Given the description of an element on the screen output the (x, y) to click on. 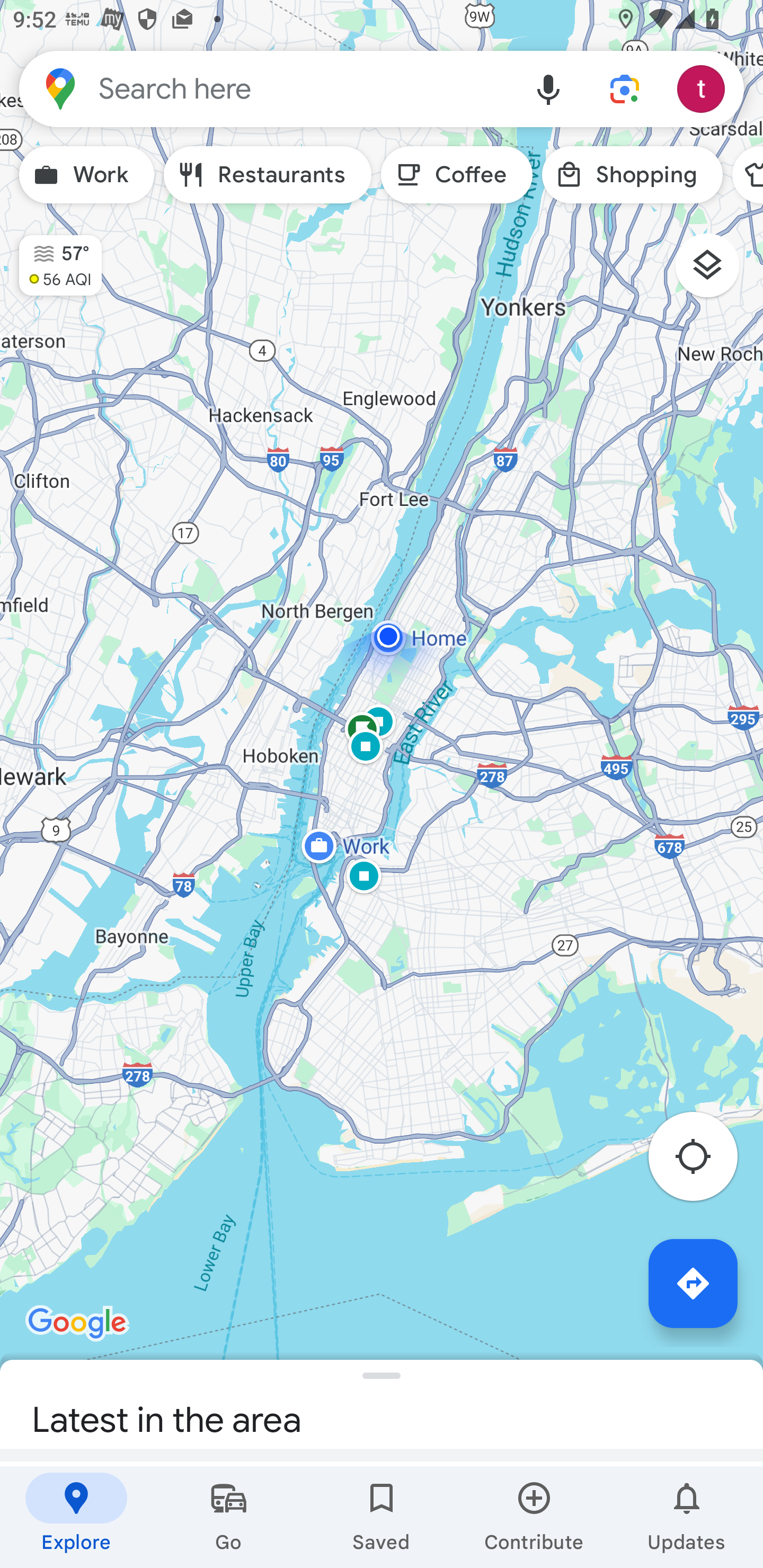
Search here (264, 88)
Voice search (548, 88)
Lens in Maps (624, 88)
Account and settings. (703, 88)
Work (86, 174)
Restaurants Search for Restaurants (267, 174)
Coffee Search for Coffee (456, 174)
Shopping Search for Shopping (631, 174)
Mist, 57°, Moderate, 56 AQI 57° 56 AQI (50, 257)
Layers (716, 271)
Re-center map to your location (702, 1161)
Directions (692, 1283)
Go (228, 1517)
Saved (381, 1517)
Contribute (533, 1517)
Updates (686, 1517)
